Given the description of an element on the screen output the (x, y) to click on. 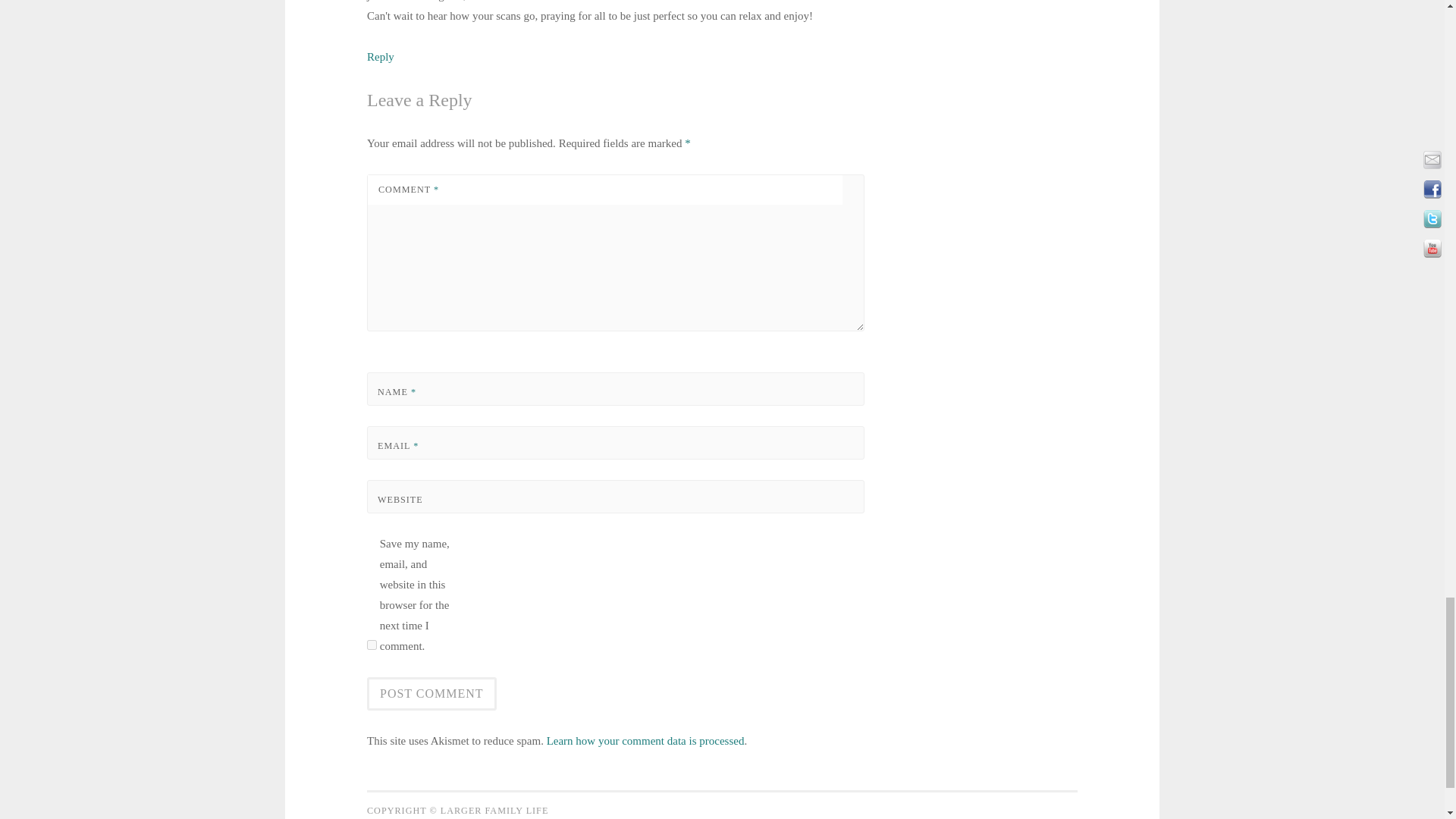
Post Comment (431, 693)
yes (371, 644)
